Given the description of an element on the screen output the (x, y) to click on. 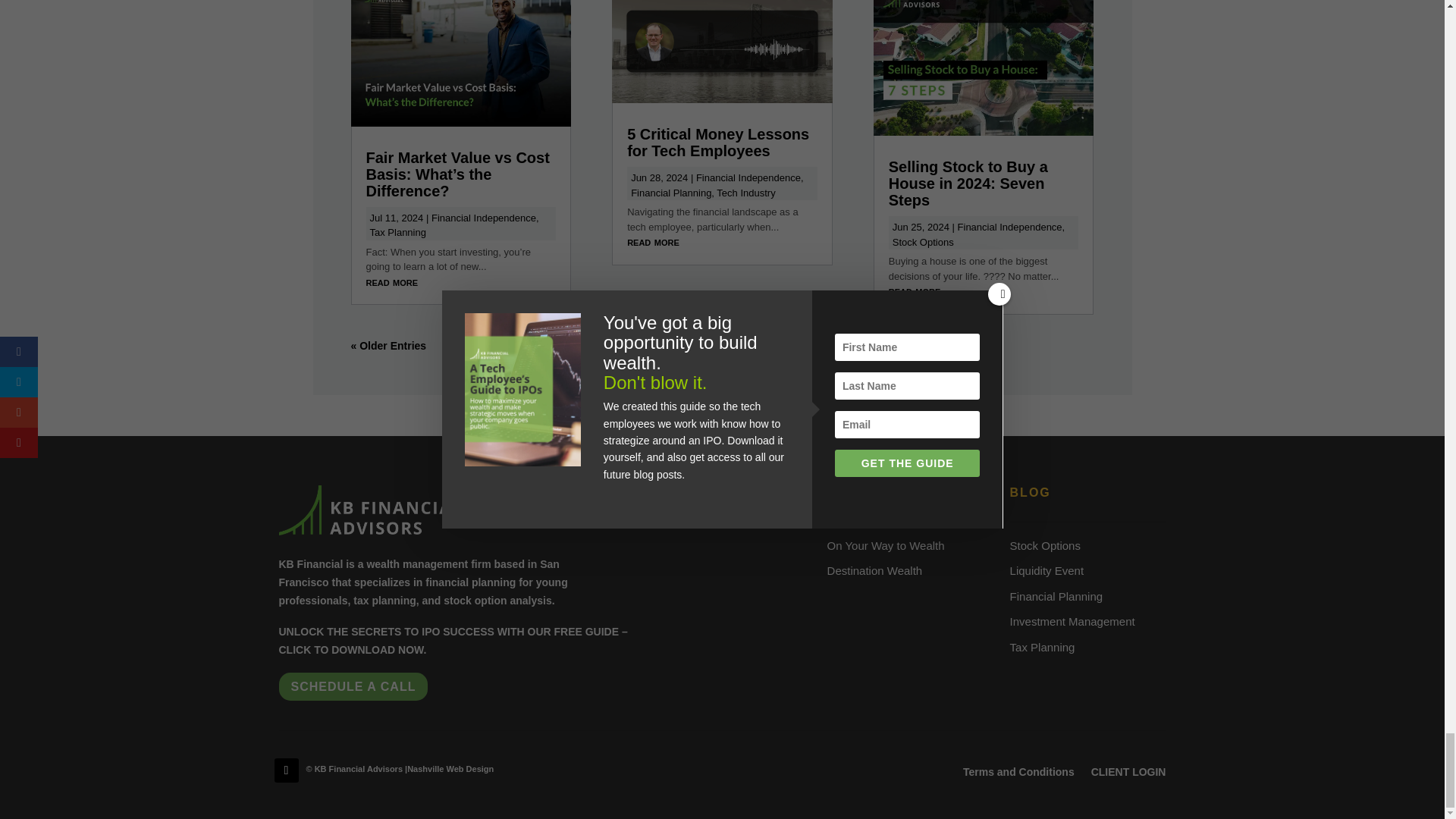
Follow on LinkedIn (286, 770)
